Given the description of an element on the screen output the (x, y) to click on. 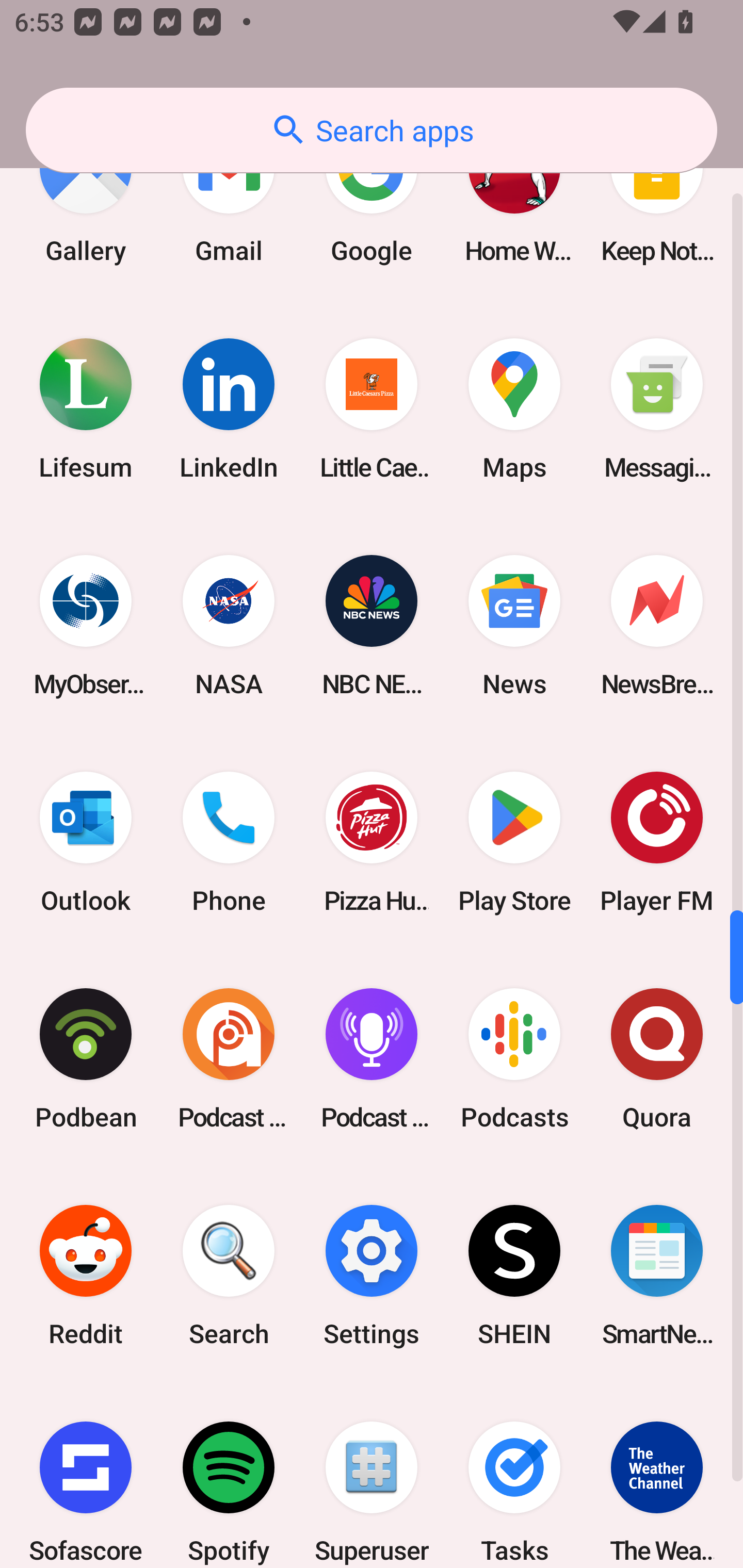
  Search apps (371, 130)
Gallery (85, 202)
Gmail (228, 202)
Google (371, 202)
Home Workout (514, 202)
Keep Notes (656, 202)
Lifesum (85, 409)
LinkedIn (228, 409)
Little Caesars Pizza (371, 409)
Maps (514, 409)
Messaging (656, 409)
MyObservatory (85, 625)
NASA (228, 625)
NBC NEWS (371, 625)
News (514, 625)
NewsBreak (656, 625)
Outlook (85, 841)
Phone (228, 841)
Pizza Hut HK & Macau (371, 841)
Play Store (514, 841)
Player FM (656, 841)
Podbean (85, 1058)
Podcast Addict (228, 1058)
Podcast Player (371, 1058)
Podcasts (514, 1058)
Quora (656, 1058)
Reddit (85, 1275)
Search (228, 1275)
Settings (371, 1275)
SHEIN (514, 1275)
SmartNews (656, 1275)
Sofascore (85, 1476)
Spotify (228, 1476)
Superuser (371, 1476)
Tasks (514, 1476)
The Weather Channel (656, 1476)
